Given the description of an element on the screen output the (x, y) to click on. 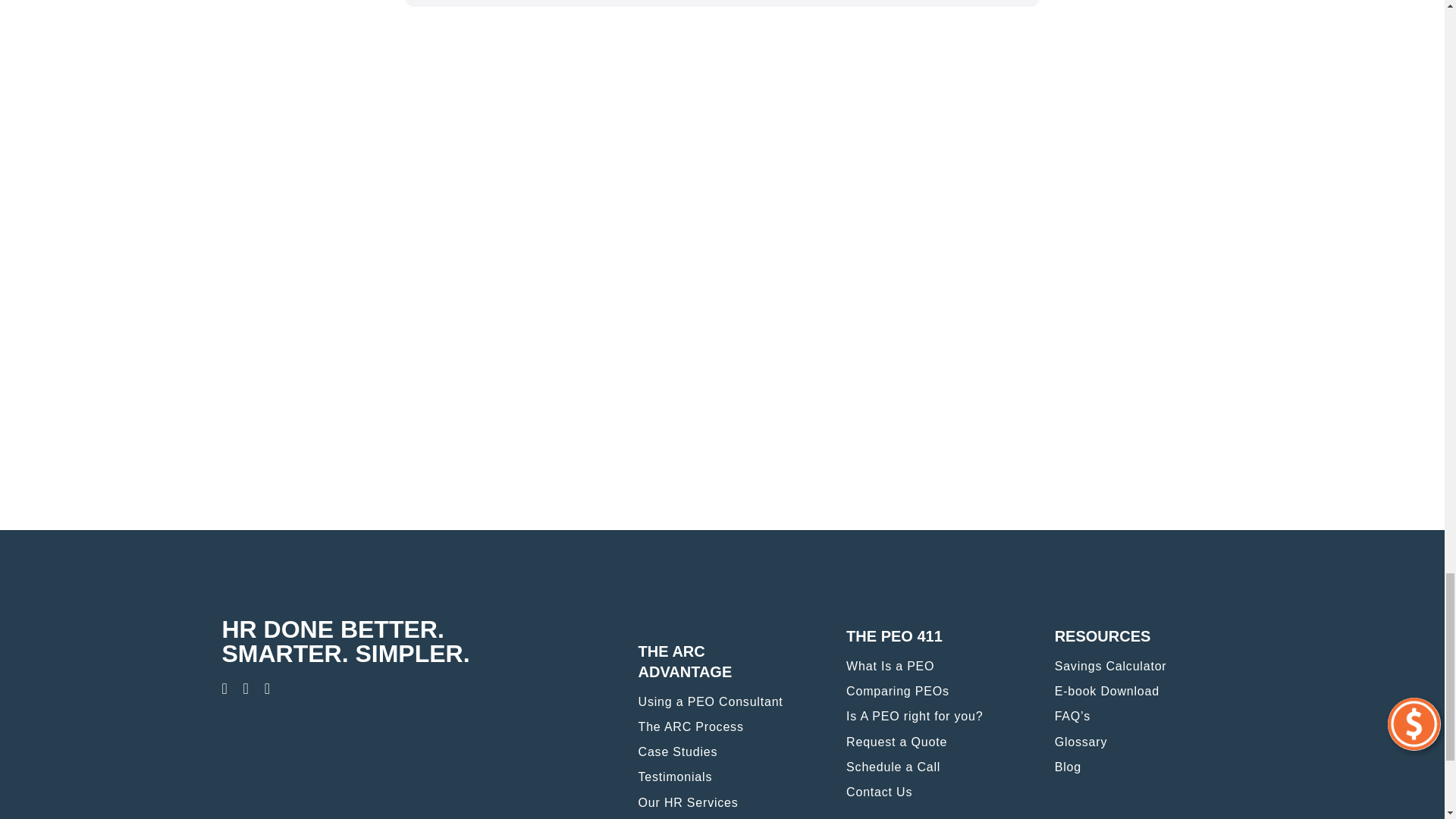
Case Studies (722, 755)
E-book Download (1138, 694)
Testimonials (722, 780)
The ARC Process (722, 730)
Using a PEO Consultant (722, 705)
